Given the description of an element on the screen output the (x, y) to click on. 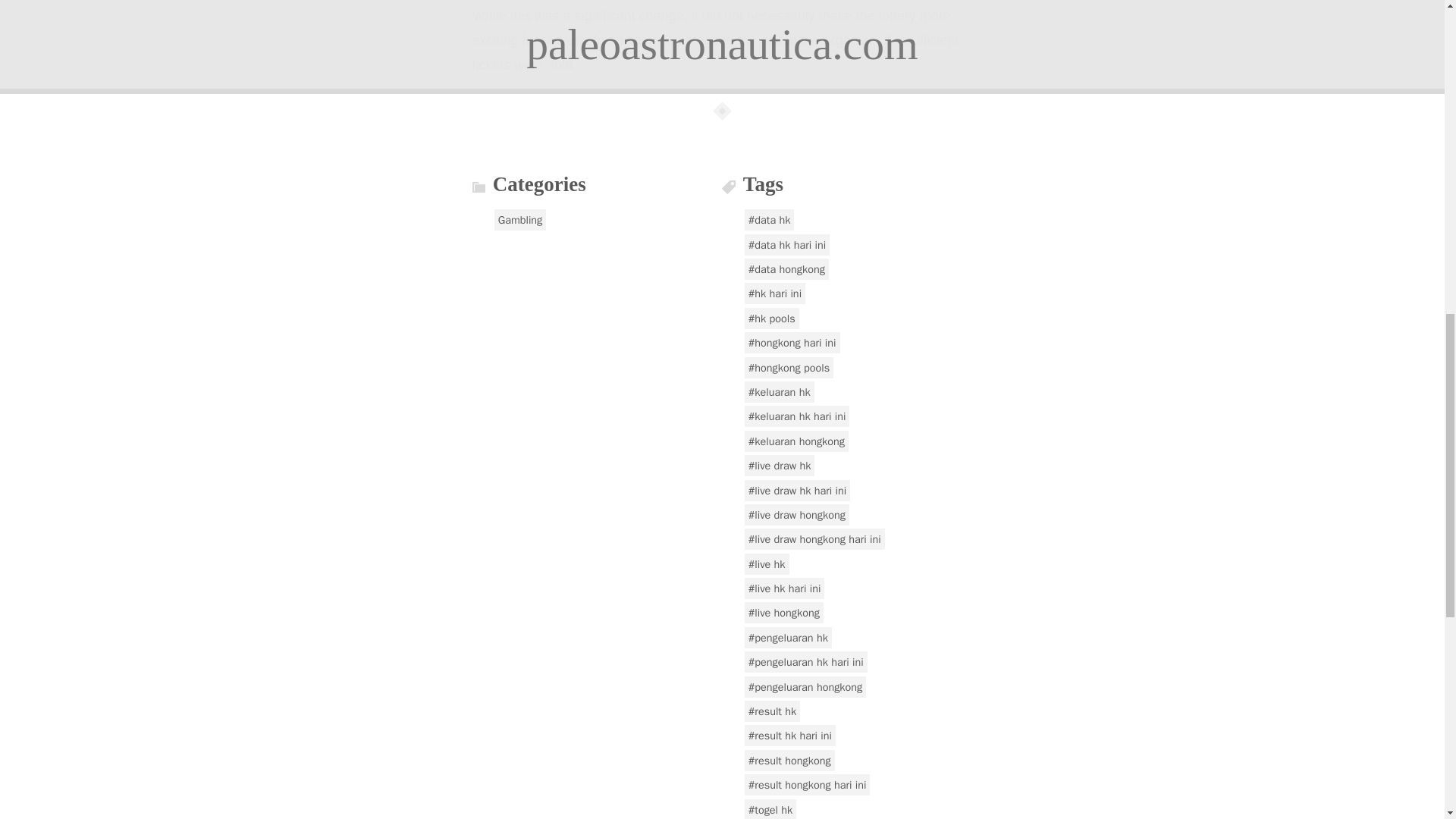
data hk hari ini (786, 244)
live hk hari ini (784, 588)
live hk (766, 563)
pengeluaran hk hari ini (805, 661)
pengeluaran hk (787, 637)
togel hk (770, 809)
live draw hongkong (796, 514)
hk pools (771, 318)
hongkong pools (789, 367)
hongkong hari ini (792, 342)
Gambling (521, 219)
data hongkong (786, 269)
keluaran hk (778, 391)
live draw hk hari ini (797, 490)
data hk (769, 219)
